Given the description of an element on the screen output the (x, y) to click on. 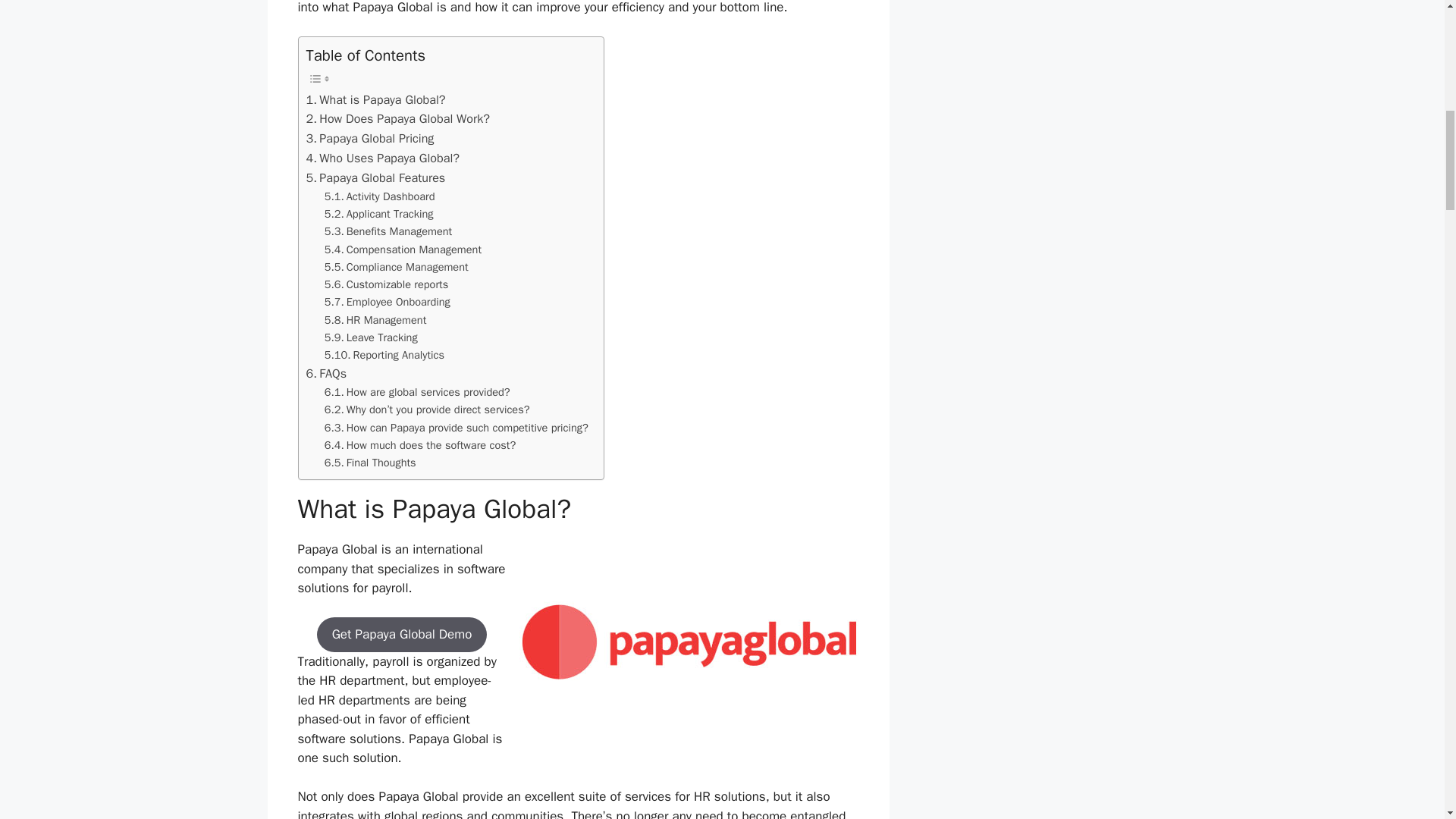
HR Management (375, 320)
How Does Papaya Global Work? (397, 118)
Leave Tracking (370, 337)
How are global services provided? (417, 392)
Who Uses Papaya Global? (382, 158)
Benefits Management (387, 231)
Applicant Tracking (378, 213)
Applicant Tracking (378, 213)
Employee Onboarding (386, 302)
Who Uses Papaya Global? (382, 158)
Activity Dashboard (379, 196)
Get Papaya Global Demo (402, 634)
Papaya Global Pricing (369, 138)
What is Papaya Global? (375, 99)
Compliance Management (396, 267)
